Given the description of an element on the screen output the (x, y) to click on. 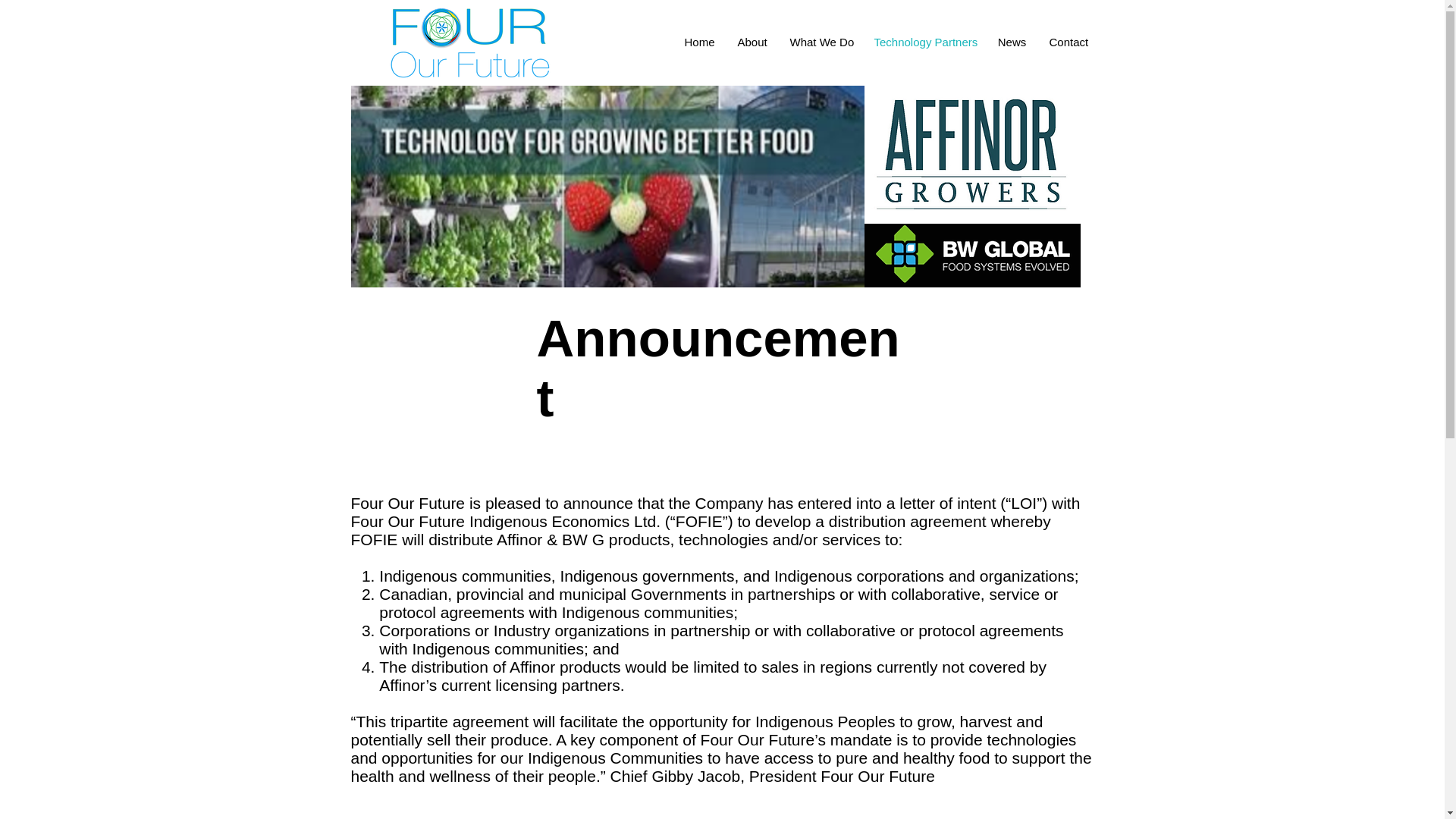
Technology Partners (925, 42)
News (1010, 42)
About (752, 42)
Contact (1067, 42)
What We Do (819, 42)
Home (699, 42)
